Given the description of an element on the screen output the (x, y) to click on. 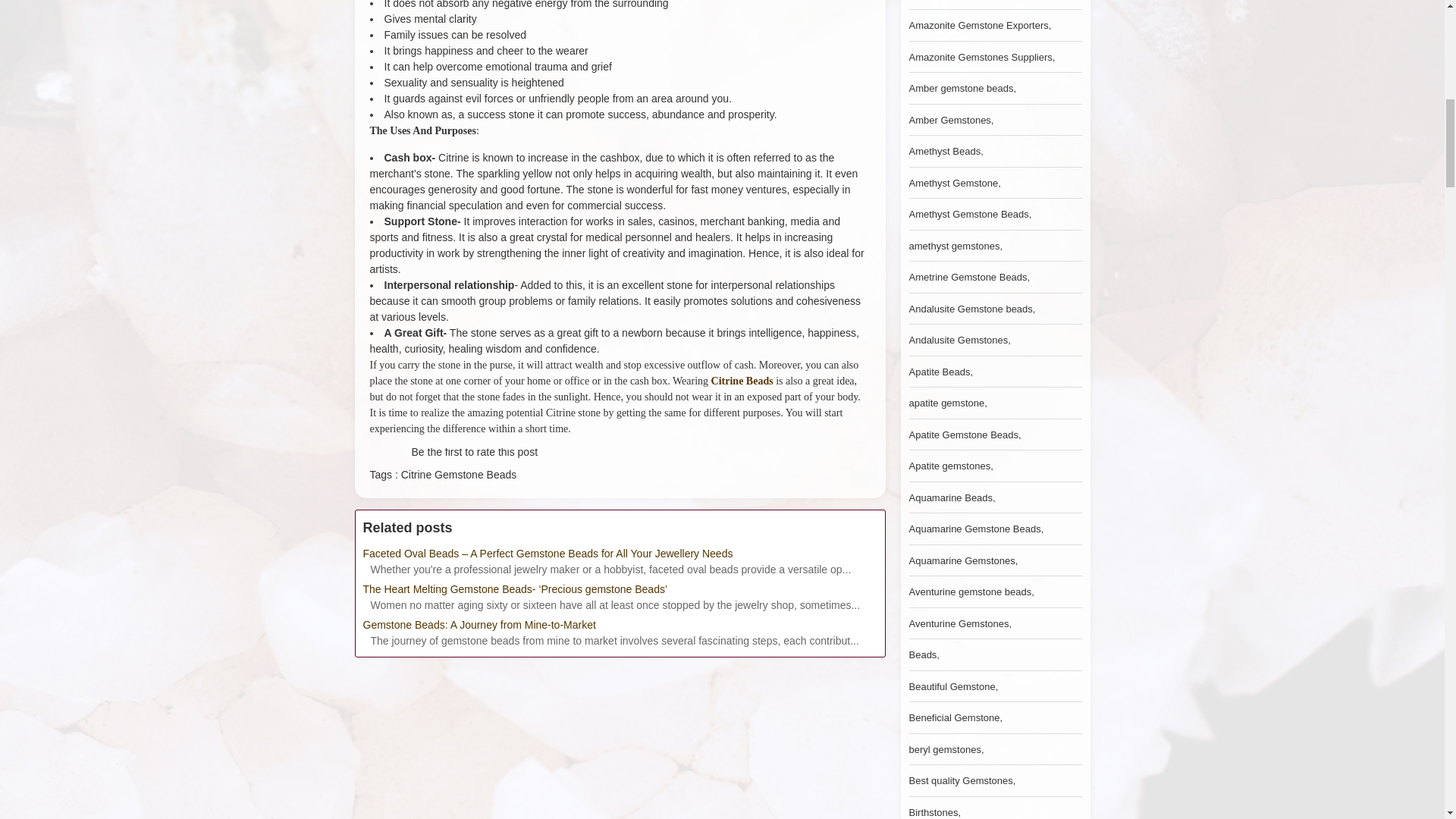
Citrine Beads (742, 380)
Gemstone Beads: A Journey from Mine-to-Market (619, 625)
1 (373, 456)
4 (384, 456)
3 (381, 456)
Rate this 1 star out of 5 (373, 456)
5 (388, 456)
2 (377, 456)
